Given the description of an element on the screen output the (x, y) to click on. 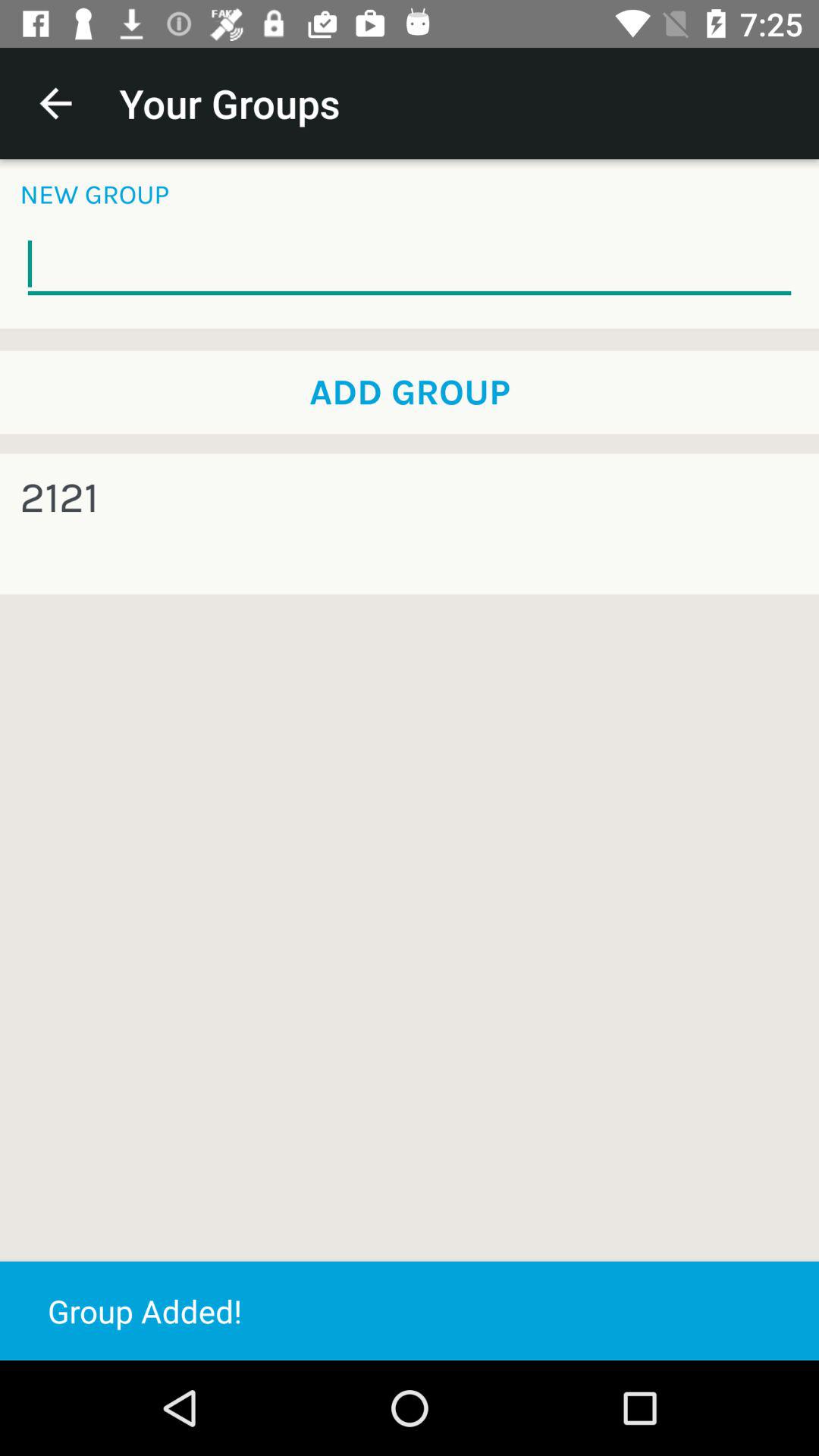
create a new group (409, 264)
